Given the description of an element on the screen output the (x, y) to click on. 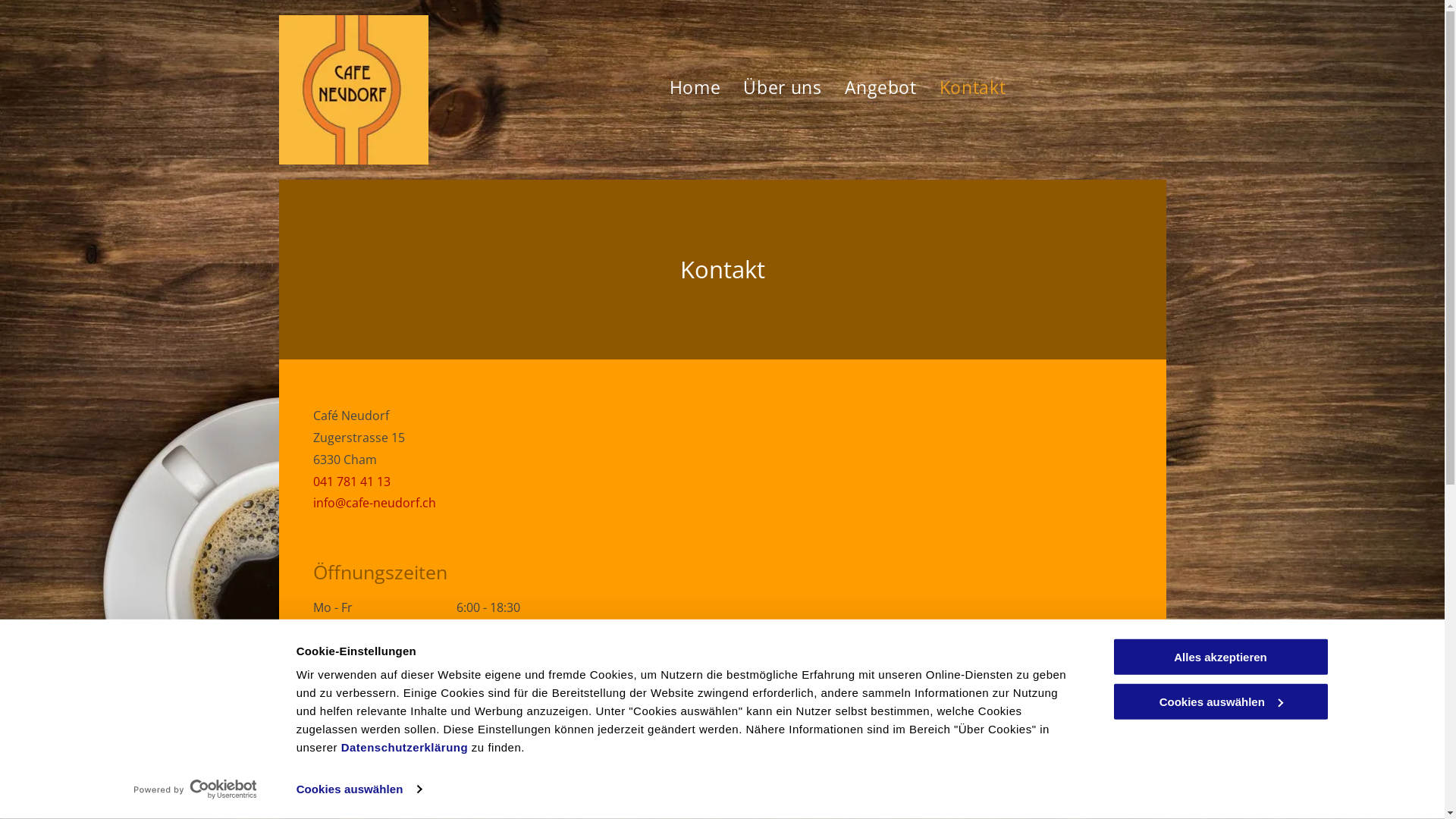
Angebot Element type: text (869, 87)
info@cafe-neudorf.ch Element type: text (373, 502)
Kontakt Element type: text (961, 87)
Home Element type: text (683, 87)
041 781 41 13 Element type: text (350, 481)
Alles akzeptieren Element type: text (1219, 656)
